Given the description of an element on the screen output the (x, y) to click on. 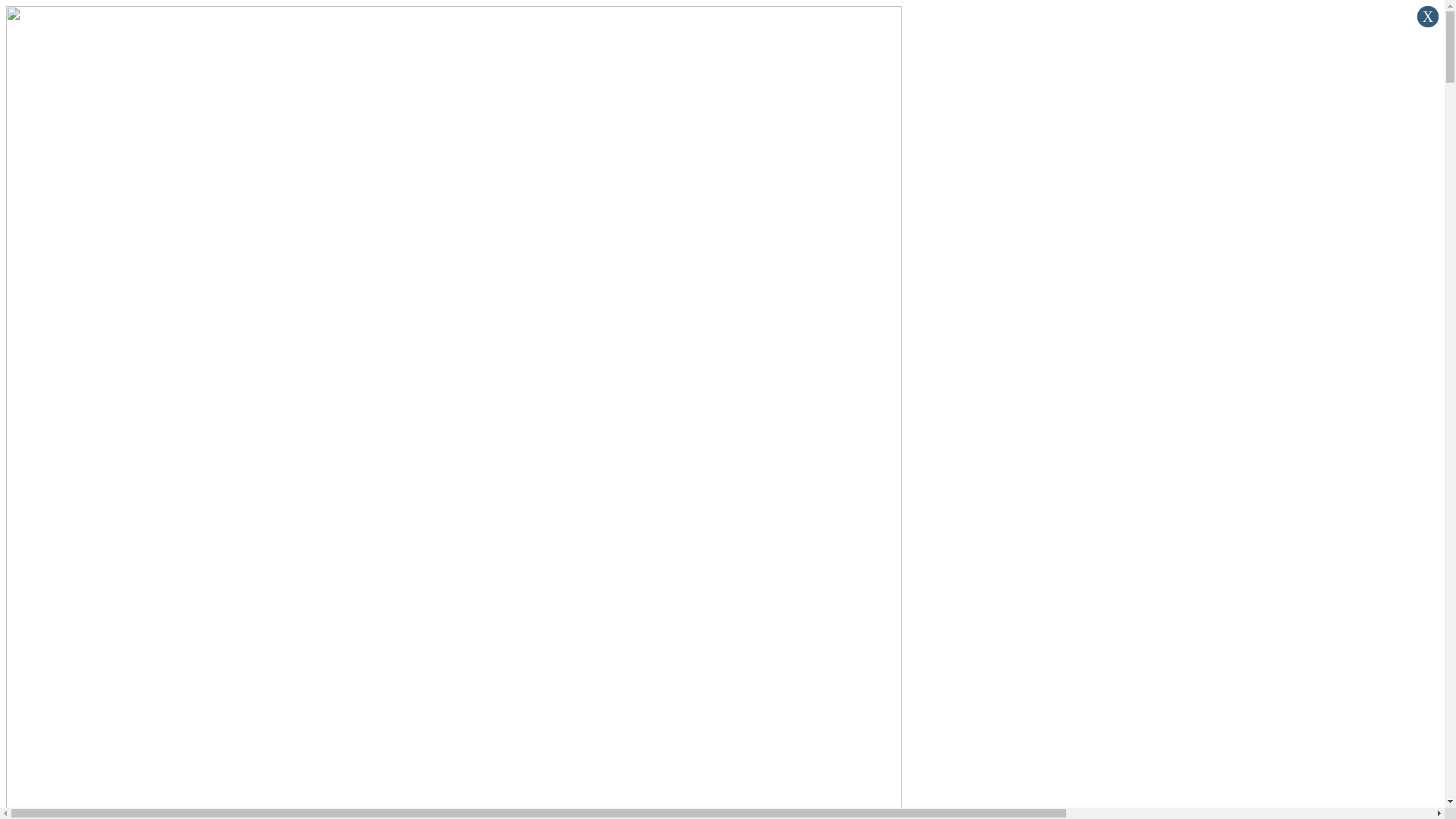
x Element type: text (1427, 16)
